Given the description of an element on the screen output the (x, y) to click on. 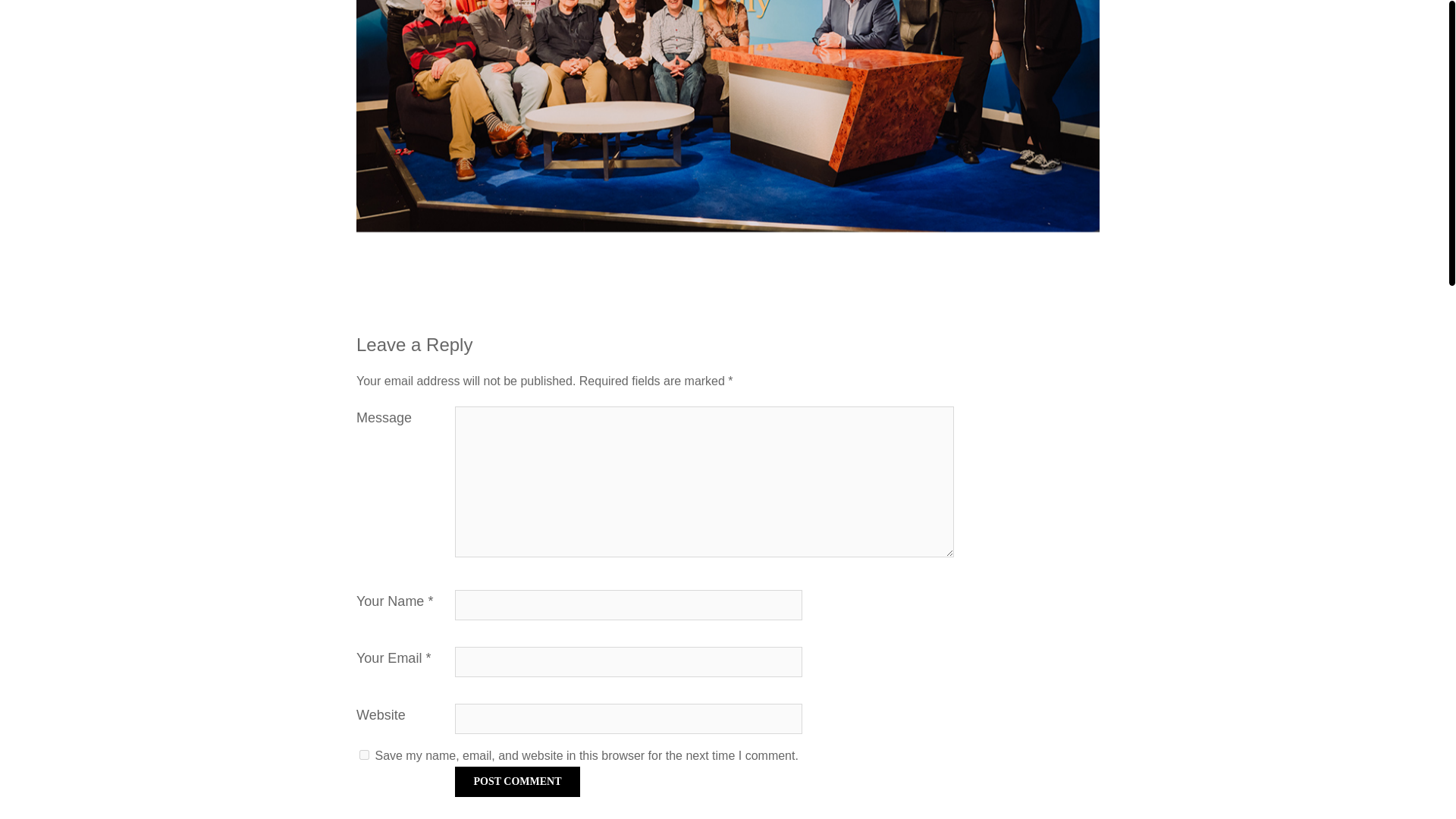
Post Comment (516, 781)
